Given the description of an element on the screen output the (x, y) to click on. 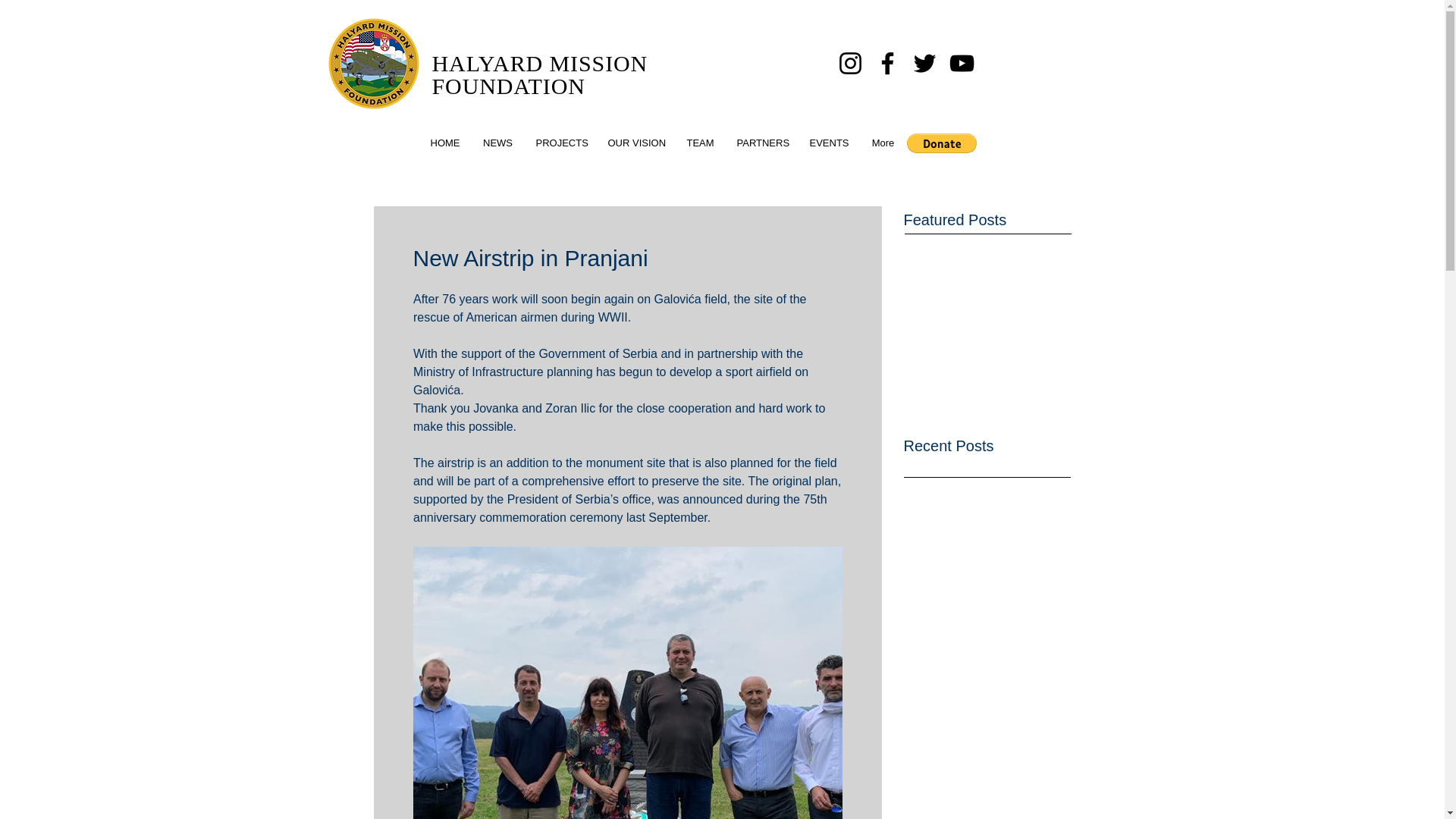
PROJECTS (560, 142)
EVENTS (828, 142)
HALYARD MISSION FOUNDATION (539, 74)
OUR VISION (635, 142)
TEAM (700, 142)
PARTNERS (761, 142)
HOME (444, 142)
NEWS (497, 142)
